Given the description of an element on the screen output the (x, y) to click on. 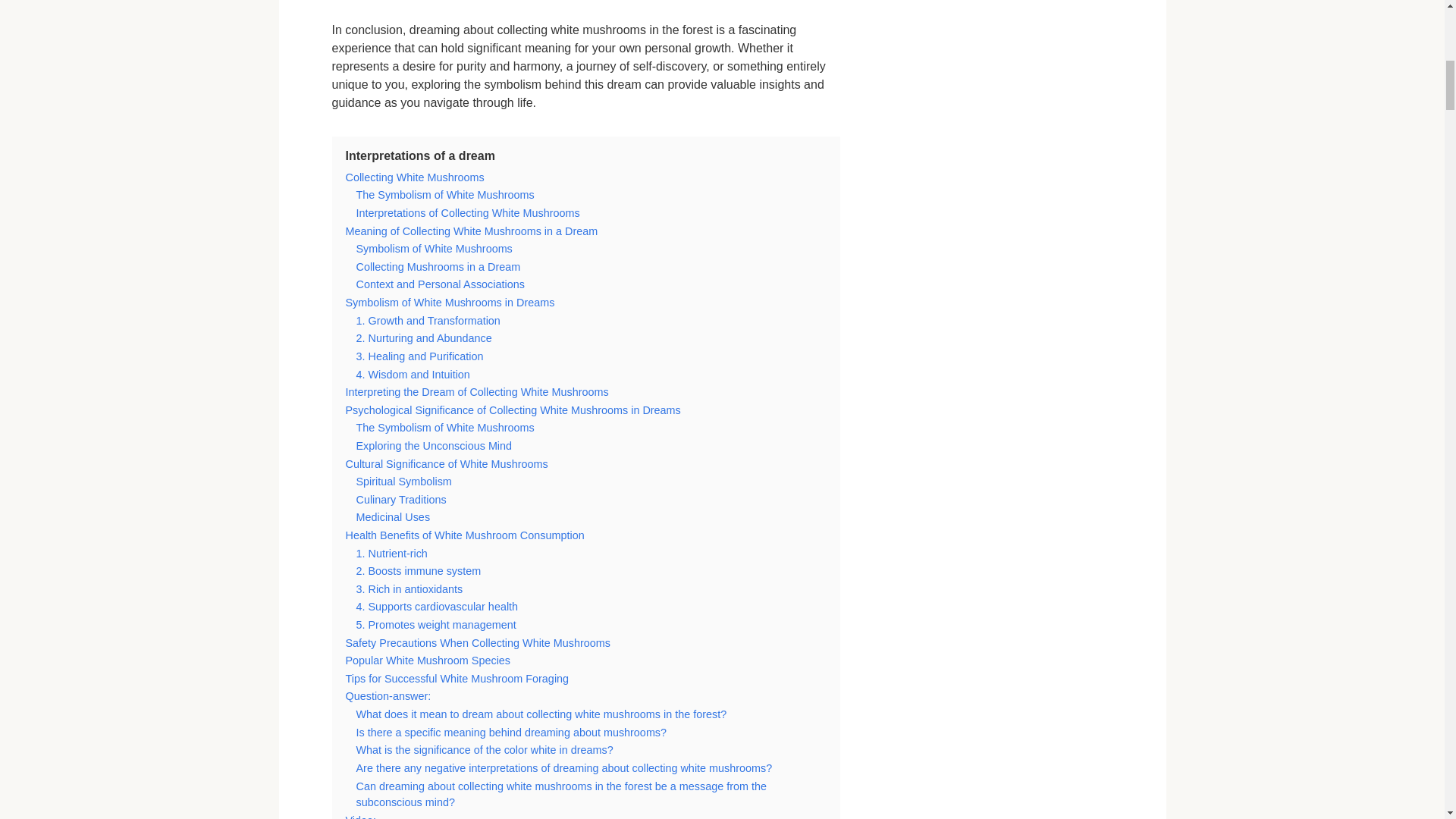
Collecting Mushrooms in a Dream (438, 266)
Symbolism of White Mushrooms (434, 248)
Meaning of Collecting White Mushrooms in a Dream (472, 231)
The Symbolism of White Mushrooms (445, 194)
Context and Personal Associations (440, 284)
Interpretations of Collecting White Mushrooms (467, 213)
2. Nurturing and Abundance (424, 337)
Symbolism of White Mushrooms in Dreams (450, 302)
3. Healing and Purification (419, 356)
1. Growth and Transformation (428, 320)
Collecting White Mushrooms (415, 177)
